Given the description of an element on the screen output the (x, y) to click on. 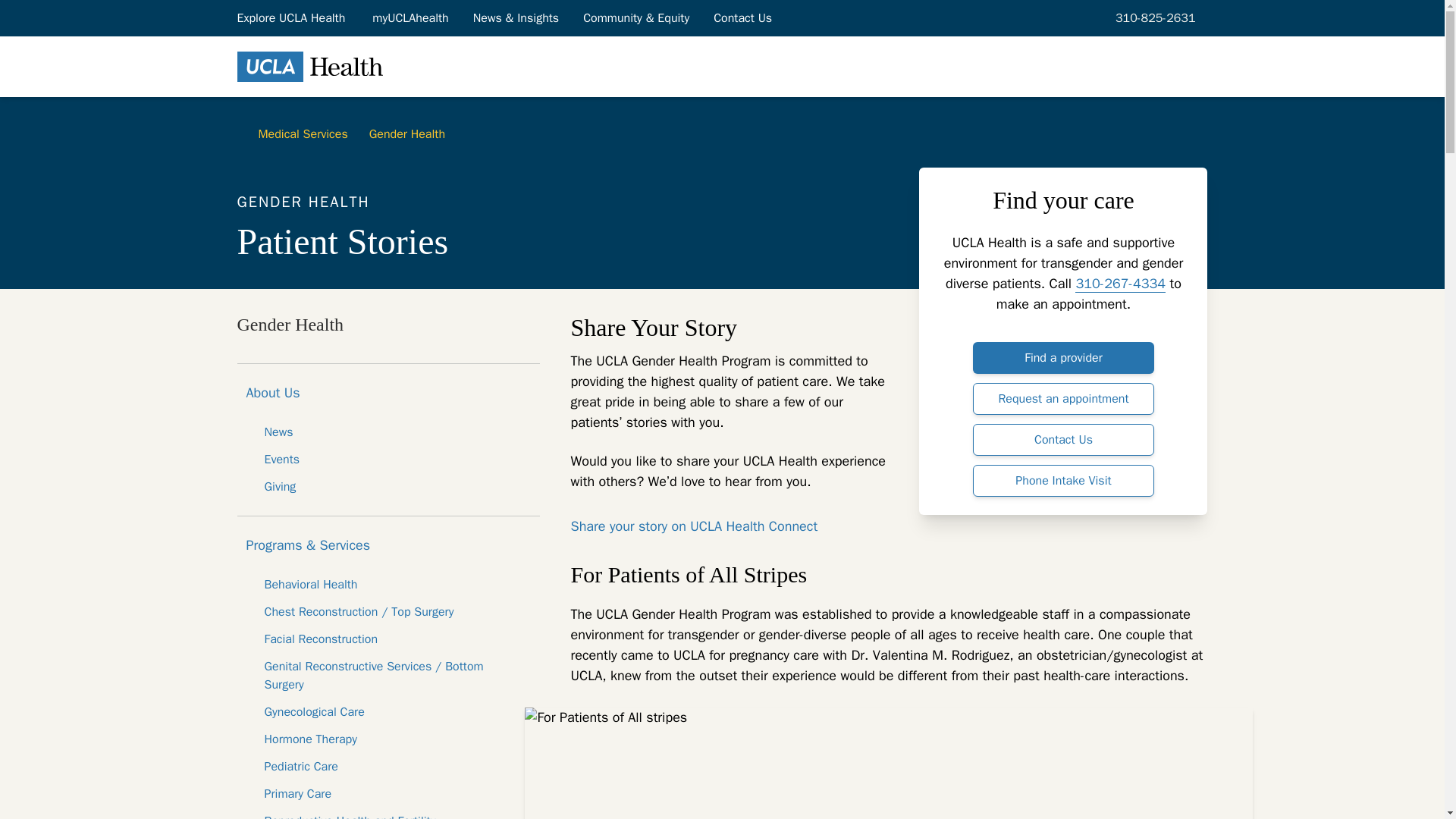
310-825-2631 (1152, 17)
myUCLAhealth Login. (409, 17)
myUCLAhealth (409, 17)
Explore UCLA Health (291, 17)
Contact Us (742, 17)
